Given the description of an element on the screen output the (x, y) to click on. 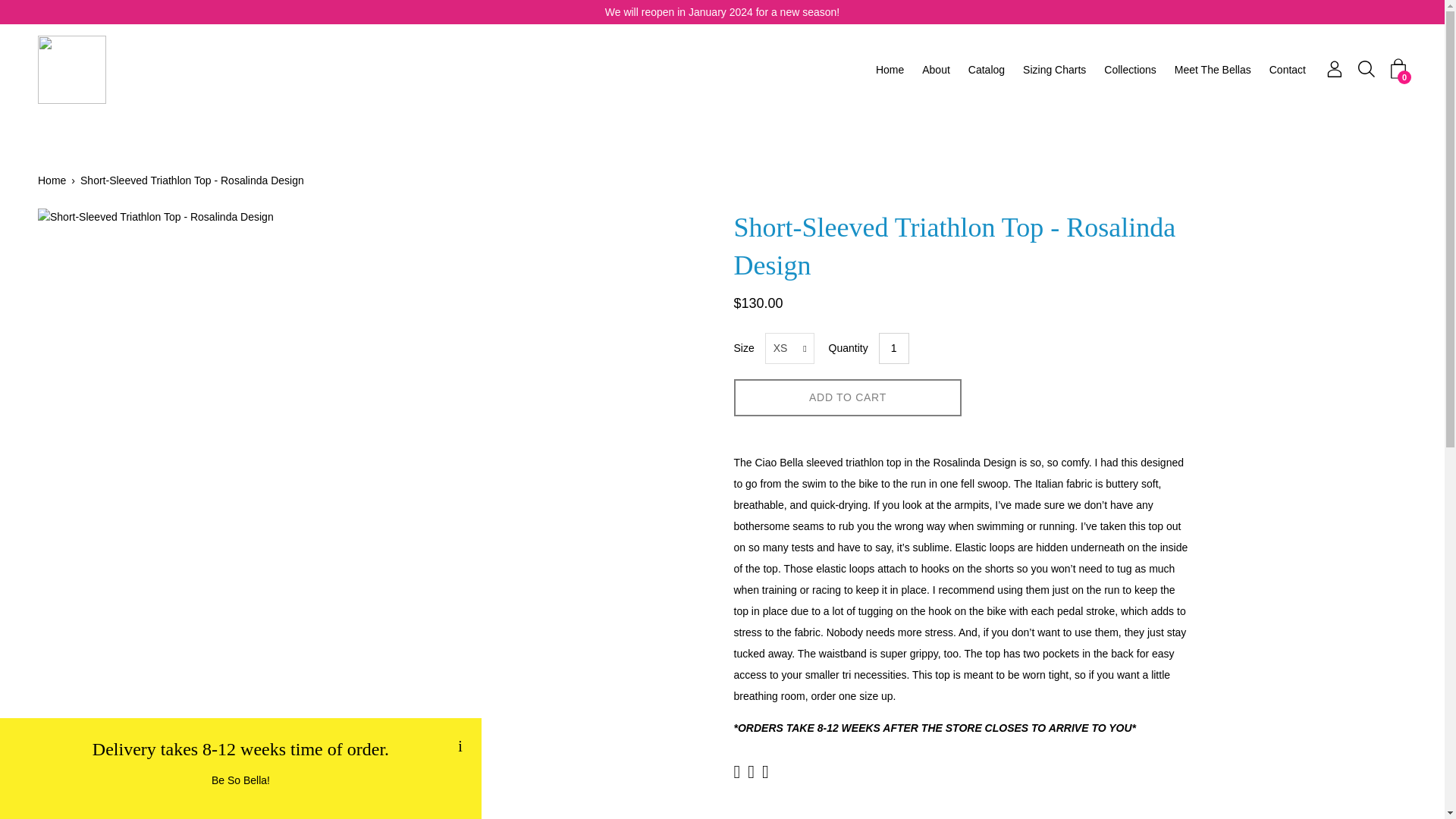
Home (890, 69)
Collections (1129, 69)
Sizing Charts (1054, 69)
Contact (1287, 69)
0 (1398, 68)
Catalog (986, 69)
About (935, 69)
We will reopen in January 2024 for a new season! (721, 12)
Open search bar (1366, 68)
1 (893, 347)
